Given the description of an element on the screen output the (x, y) to click on. 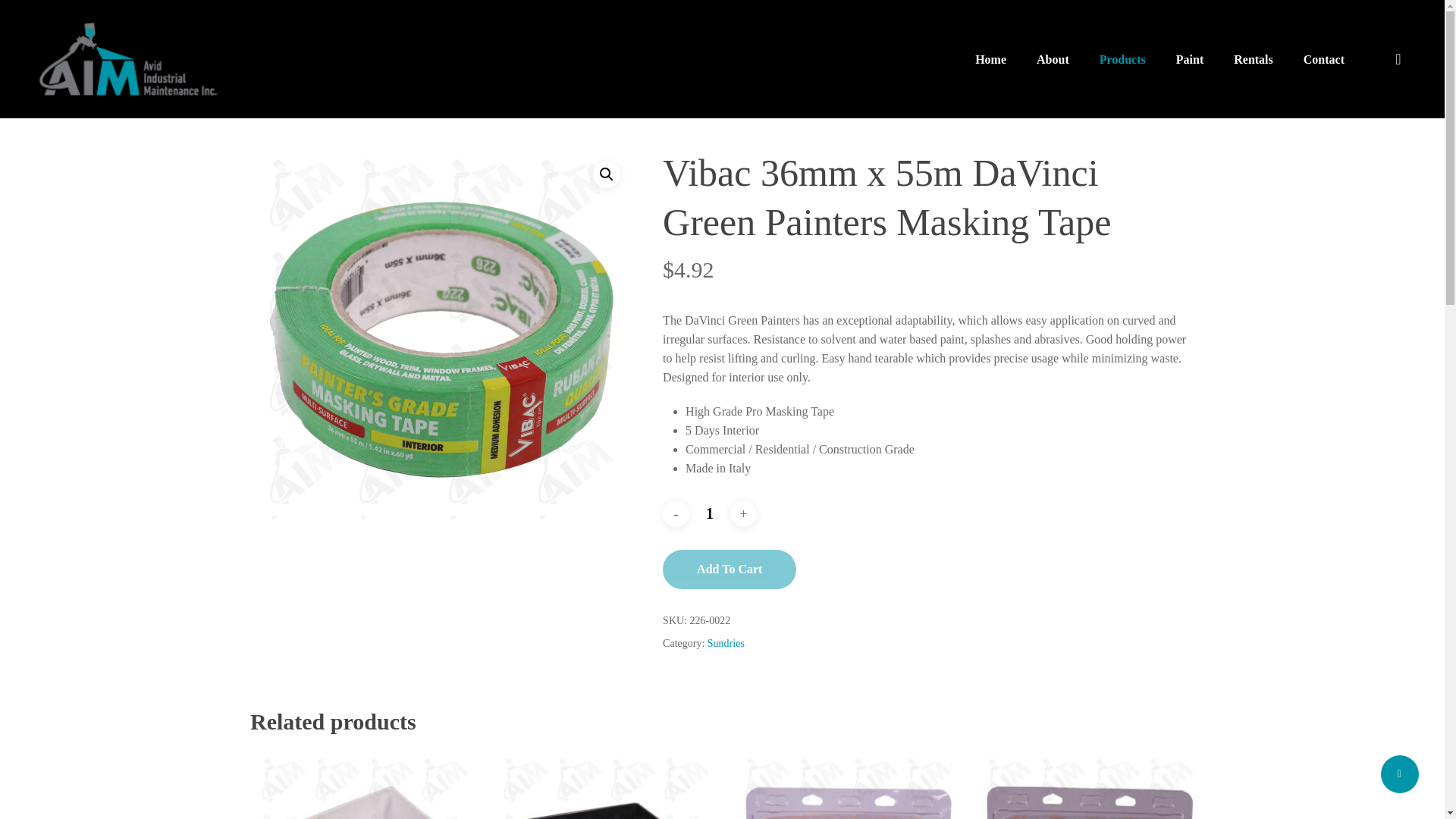
- (675, 513)
Contact (1323, 59)
Rentals (1253, 59)
Sundries (725, 643)
Products (1122, 59)
1 (709, 513)
About (1053, 59)
Add To Cart (729, 568)
Paint (1189, 59)
Home (990, 59)
